Given the description of an element on the screen output the (x, y) to click on. 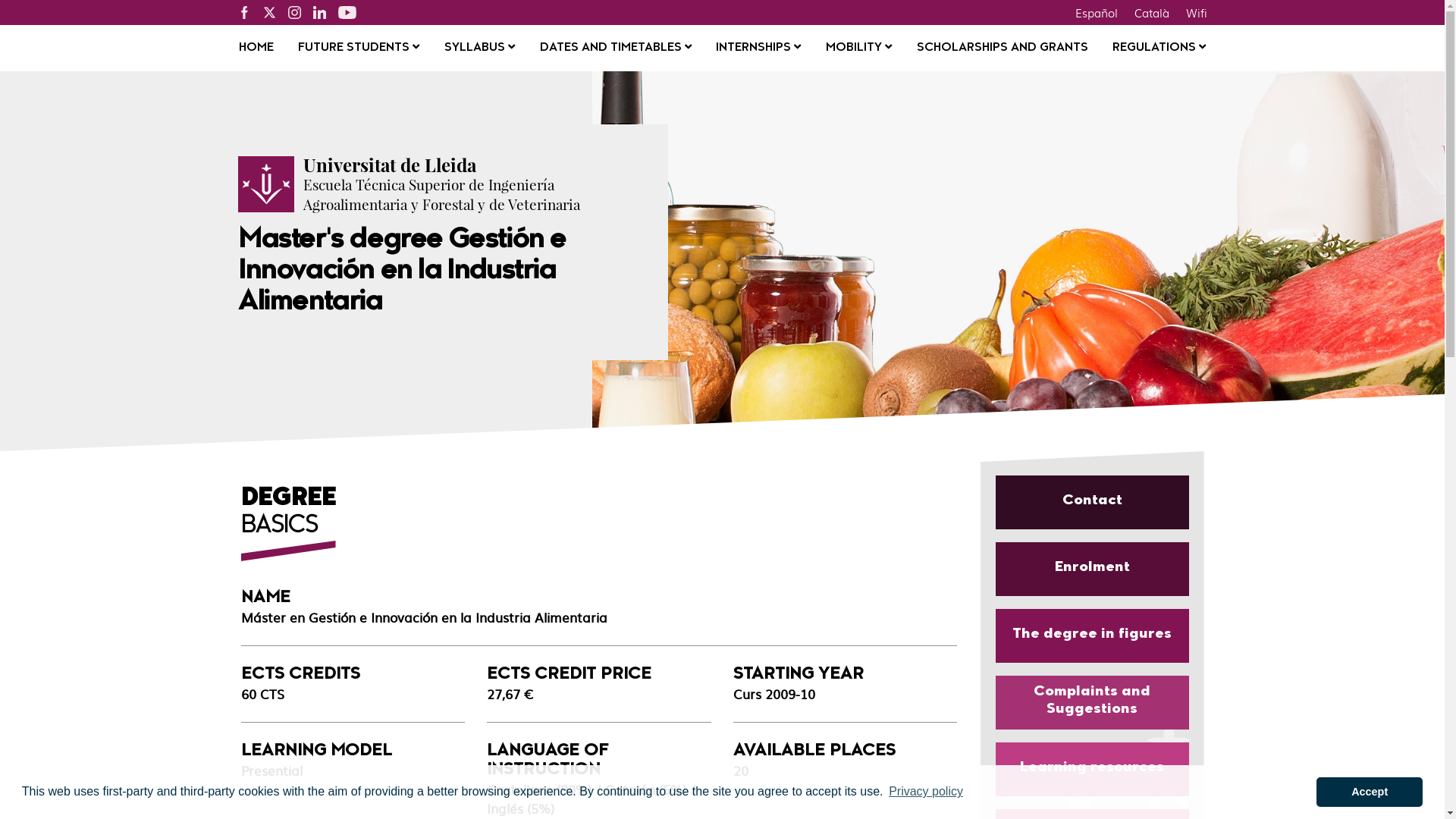
Wifi Element type: text (1195, 12)
FUTURE STUDENTS Element type: text (358, 48)
Accept Element type: text (1369, 791)
INTERNSHIPS Element type: text (757, 48)
HOME Element type: text (255, 48)
Privacy policy Element type: text (925, 791)
SYLLABUS Element type: text (479, 48)
SCHOLARSHIPS AND GRANTS Element type: text (1002, 48)
MOBILITY Element type: text (858, 48)
REGULATIONS Element type: text (1158, 48)
DATES AND TIMETABLES Element type: text (615, 48)
